Given the description of an element on the screen output the (x, y) to click on. 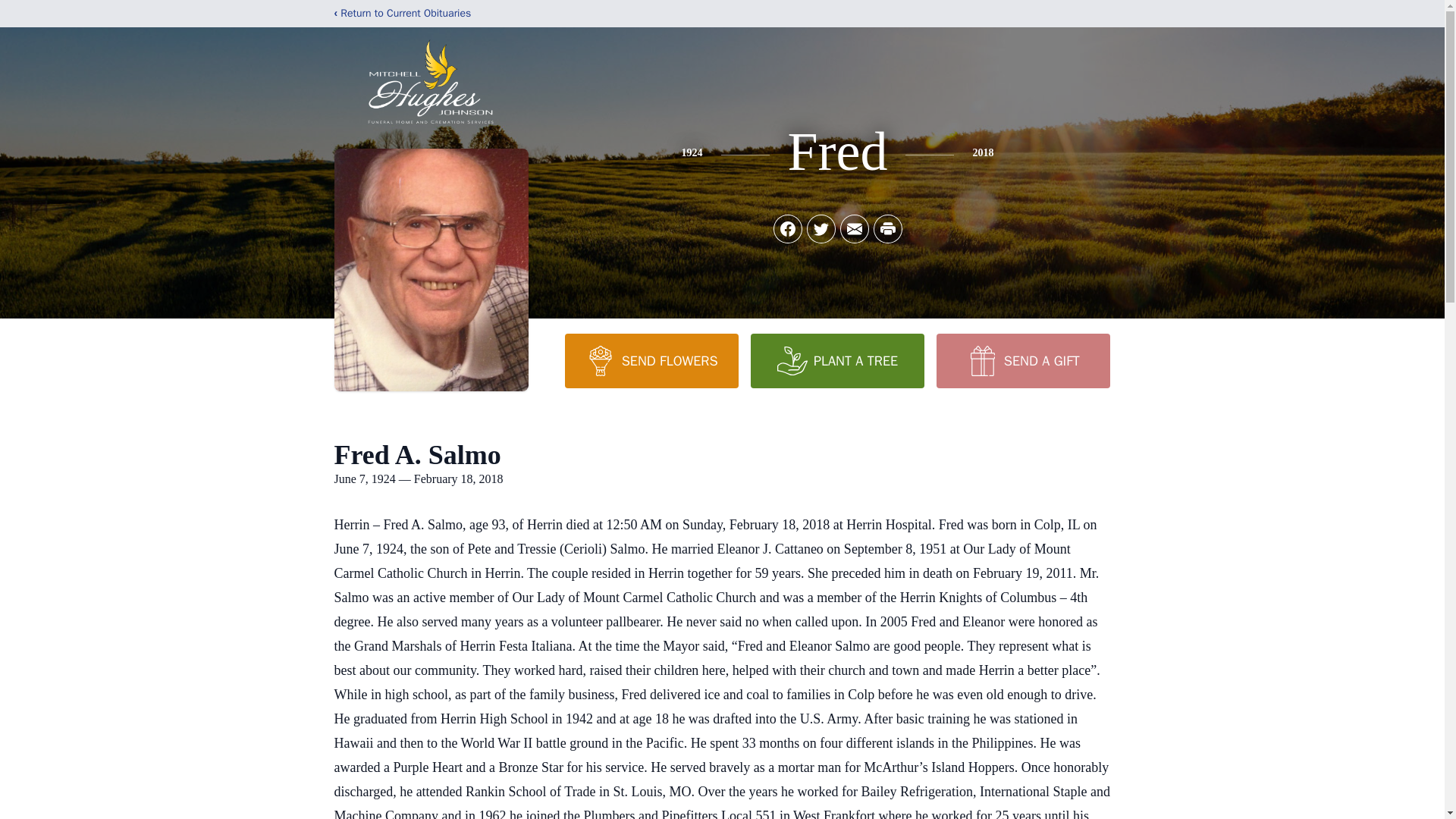
SEND A GIFT (1022, 360)
PLANT A TREE (837, 360)
SEND FLOWERS (651, 360)
